Given the description of an element on the screen output the (x, y) to click on. 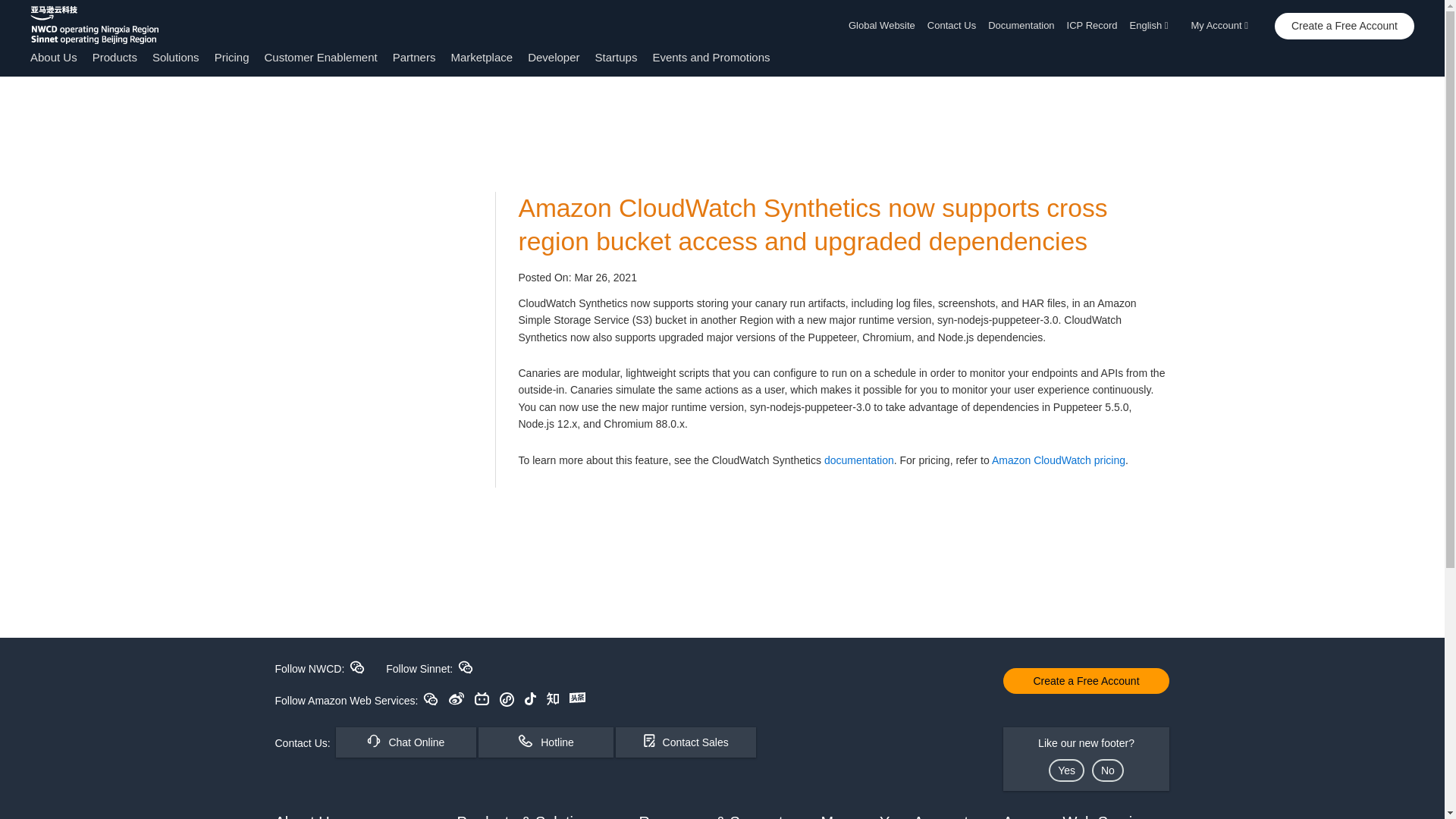
SinaWeiBo (456, 698)
Partners (414, 56)
ZhiHu (553, 698)
Global Website (884, 26)
Developer (553, 56)
Startups (616, 56)
Pricing (231, 56)
Skip to main content (7, 105)
WeChat public account (430, 698)
Contact Us (951, 26)
Customer Enablement (320, 56)
Create a Free Account (1344, 25)
Bilibili (481, 698)
Products (114, 56)
Solutions (175, 56)
